Given the description of an element on the screen output the (x, y) to click on. 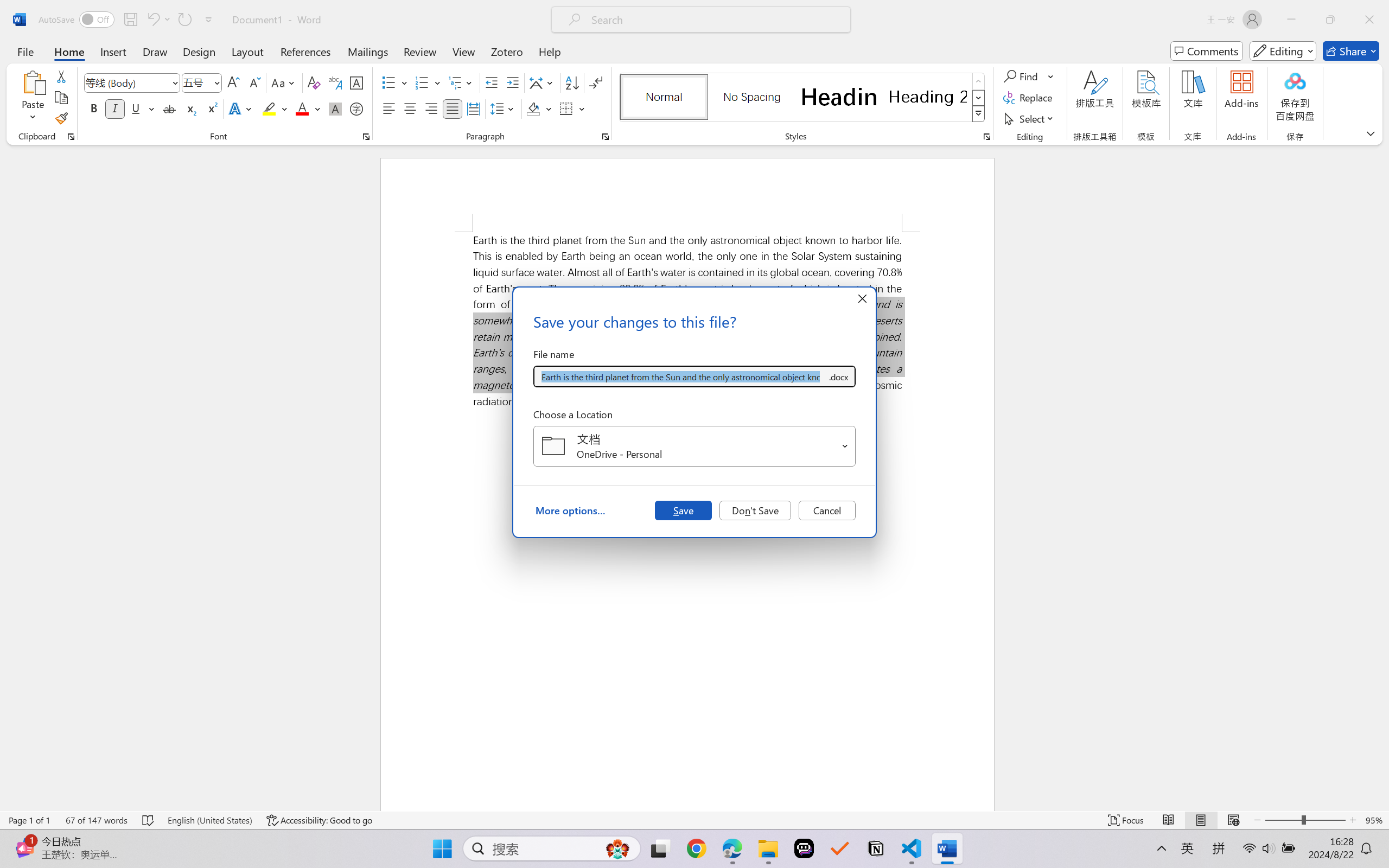
Replace... (1029, 97)
Multilevel List (461, 82)
Don't Save (755, 509)
Text Highlight Color (274, 108)
Font Color Red (302, 108)
